Given the description of an element on the screen output the (x, y) to click on. 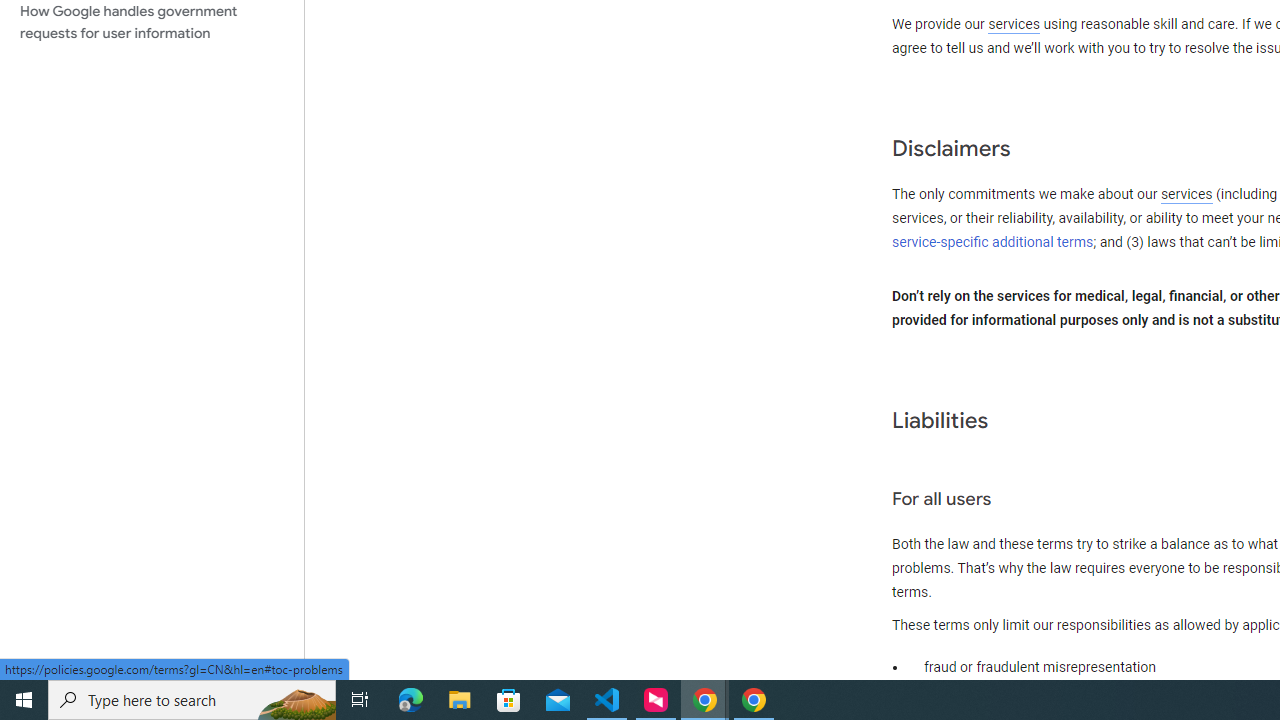
service-specific additional terms (993, 242)
services (1186, 195)
